Given the description of an element on the screen output the (x, y) to click on. 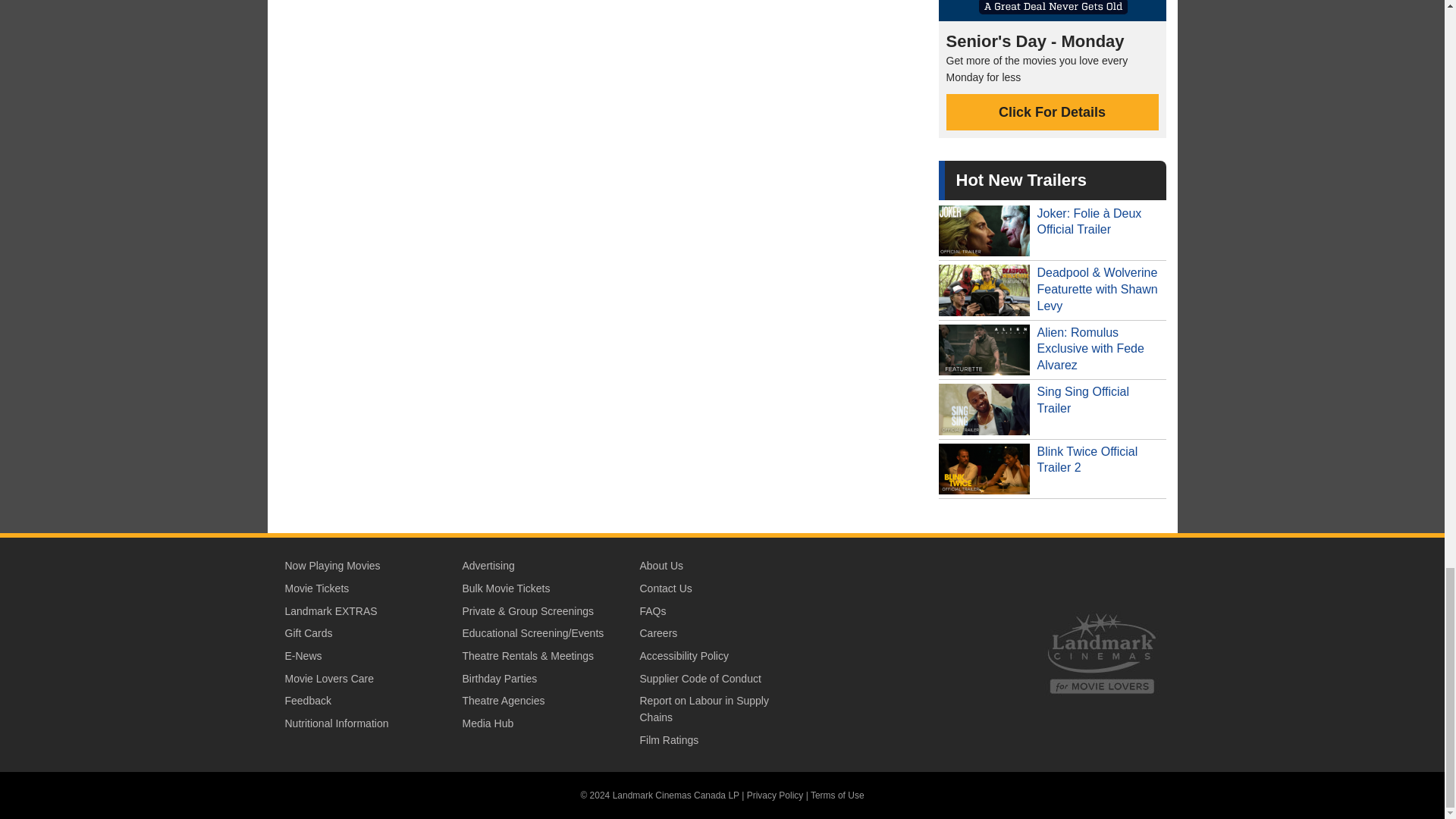
Alien: Romulus Exclusive with Fede Alvarez (1052, 350)
Sing Sing Official Trailer (1052, 409)
Click For Details (1052, 112)
Blink Twice Official Trailer 2 (1052, 468)
